Given the description of an element on the screen output the (x, y) to click on. 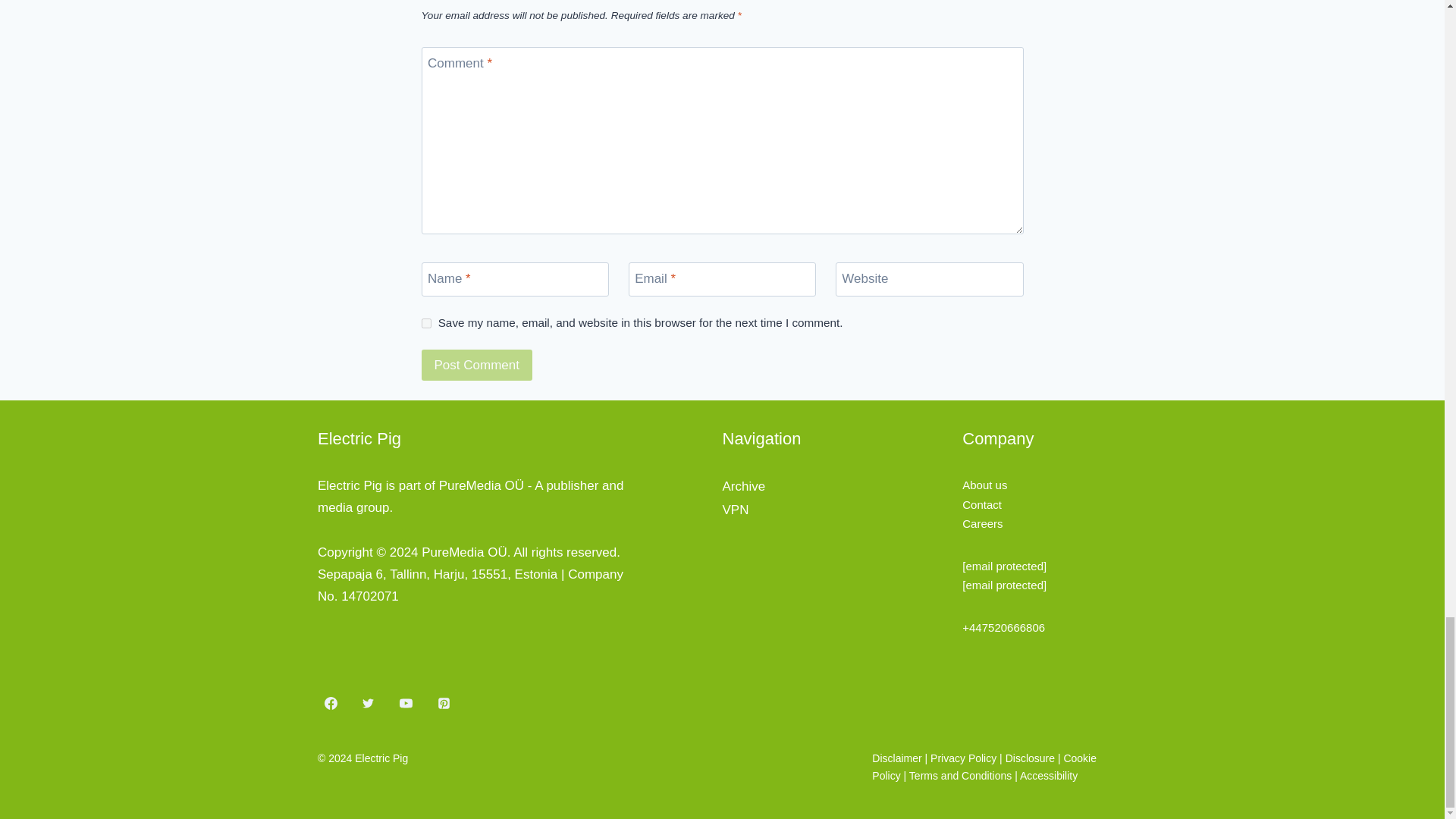
Contact (981, 504)
About us (984, 484)
yes (426, 323)
Archive (743, 486)
Careers (982, 522)
Post Comment (477, 364)
Post Comment (477, 364)
VPN (735, 509)
